Given the description of an element on the screen output the (x, y) to click on. 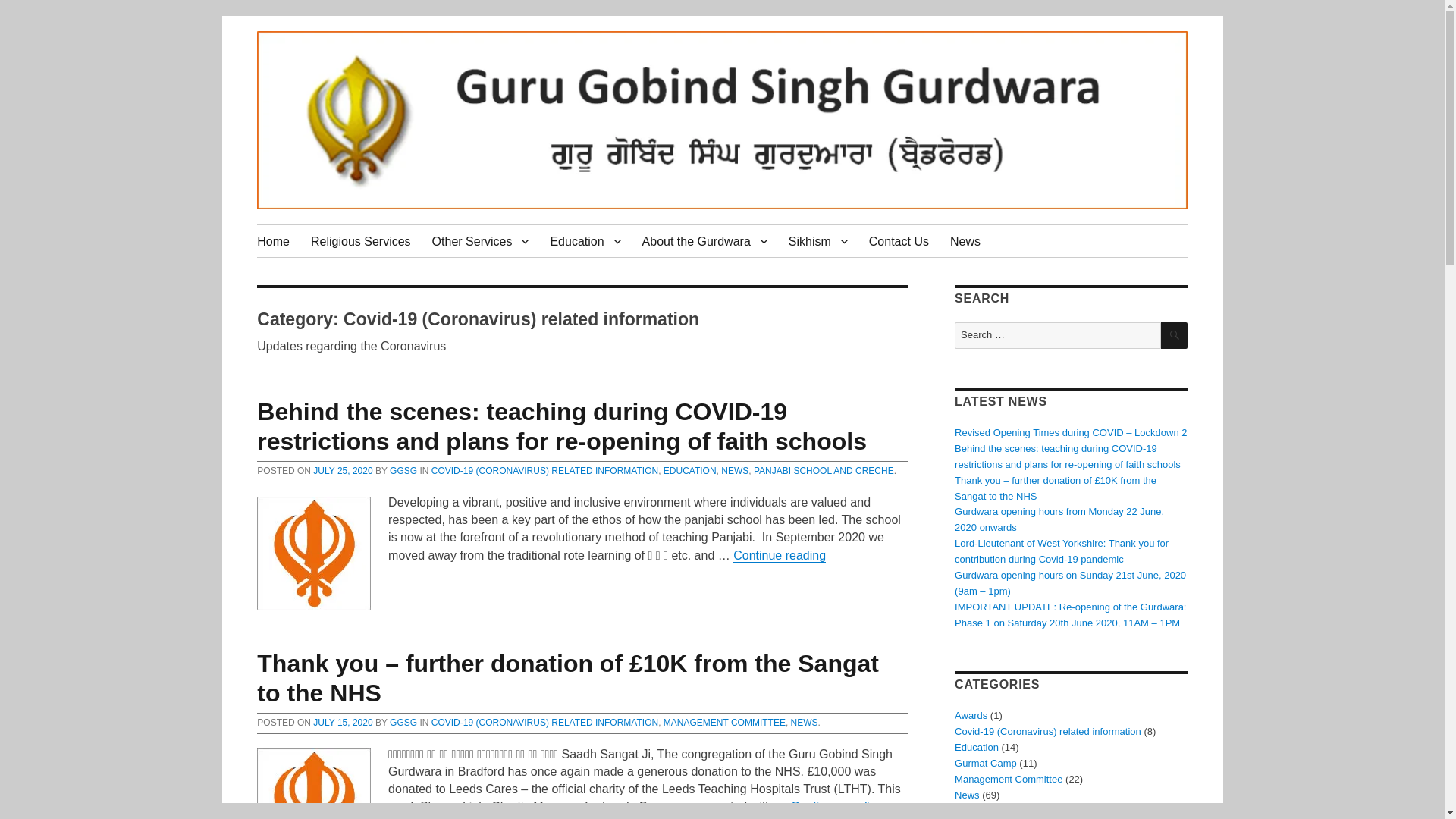
View all posts by GGSG (403, 470)
12:12 pm (342, 722)
Sikhism (818, 241)
JULY 25, 2020 (342, 470)
News (965, 241)
12:02 pm (342, 470)
Education (584, 241)
Home (272, 241)
Contact Us (899, 241)
Other Services (481, 241)
About the Gurdwara (704, 241)
Introduction to Sikhism (818, 241)
GGSG (403, 470)
Religious Services (360, 241)
